Given the description of an element on the screen output the (x, y) to click on. 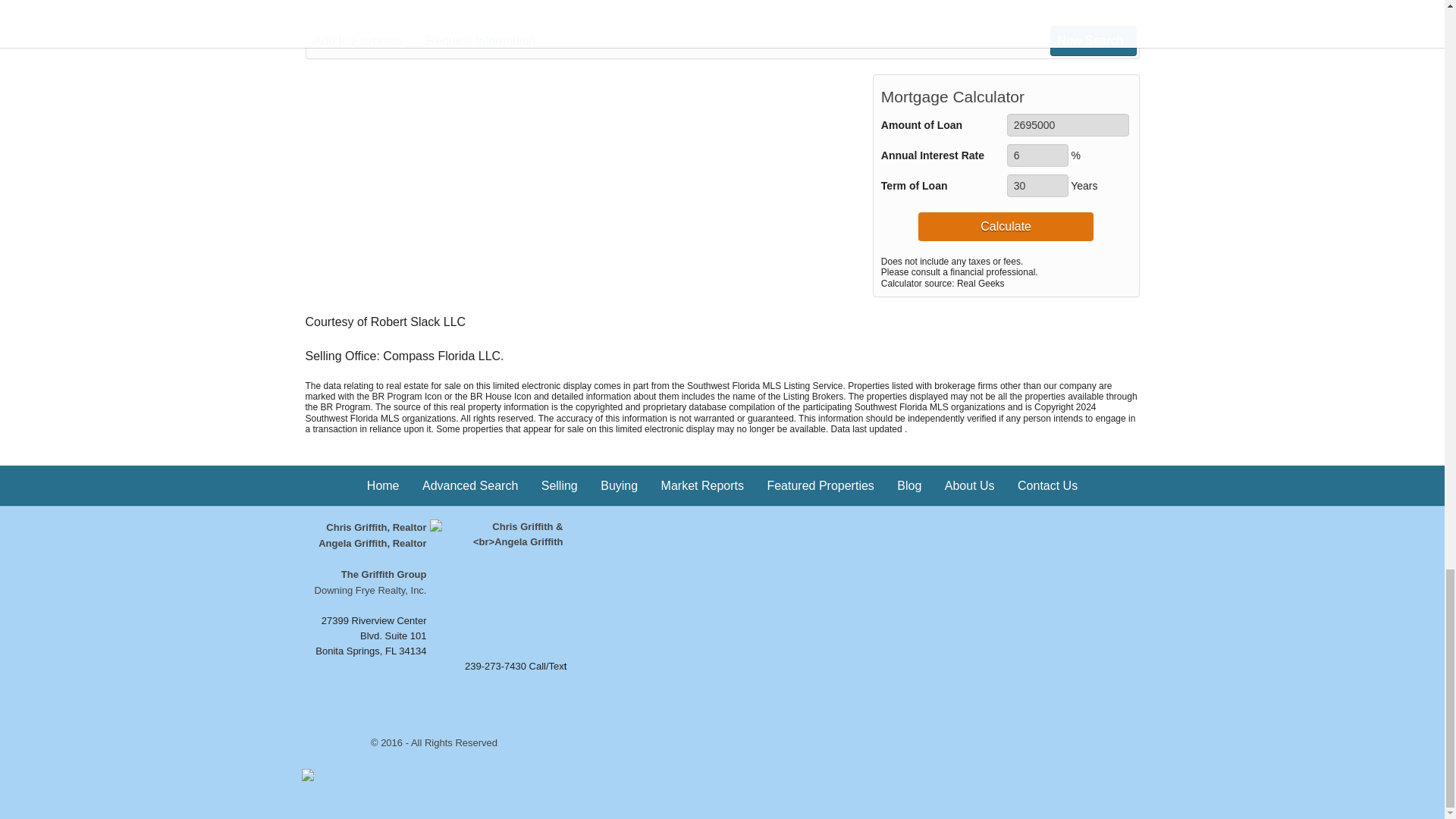
30 (1037, 185)
2695000 (1068, 124)
6 (1037, 155)
